Given the description of an element on the screen output the (x, y) to click on. 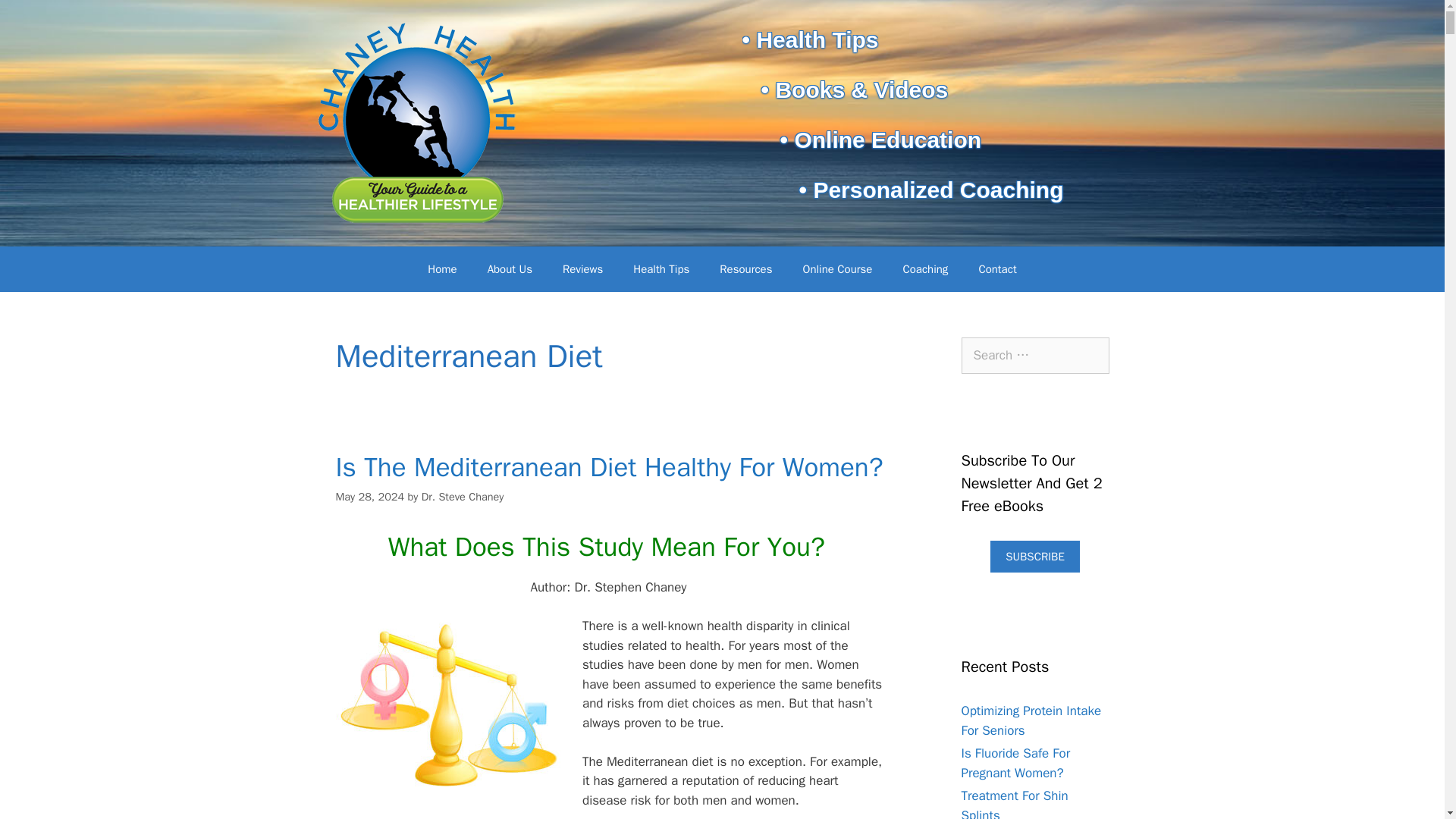
Dr. Steve Chaney (462, 496)
Search for: (1034, 355)
Resources (745, 268)
Contact (996, 268)
Reviews (582, 268)
Is The Mediterranean Diet Healthy For Women? (608, 467)
Home (441, 268)
View all posts by Dr. Steve Chaney (462, 496)
Coaching (924, 268)
Online Course (836, 268)
About Us (509, 268)
Health Tips (660, 268)
